Given the description of an element on the screen output the (x, y) to click on. 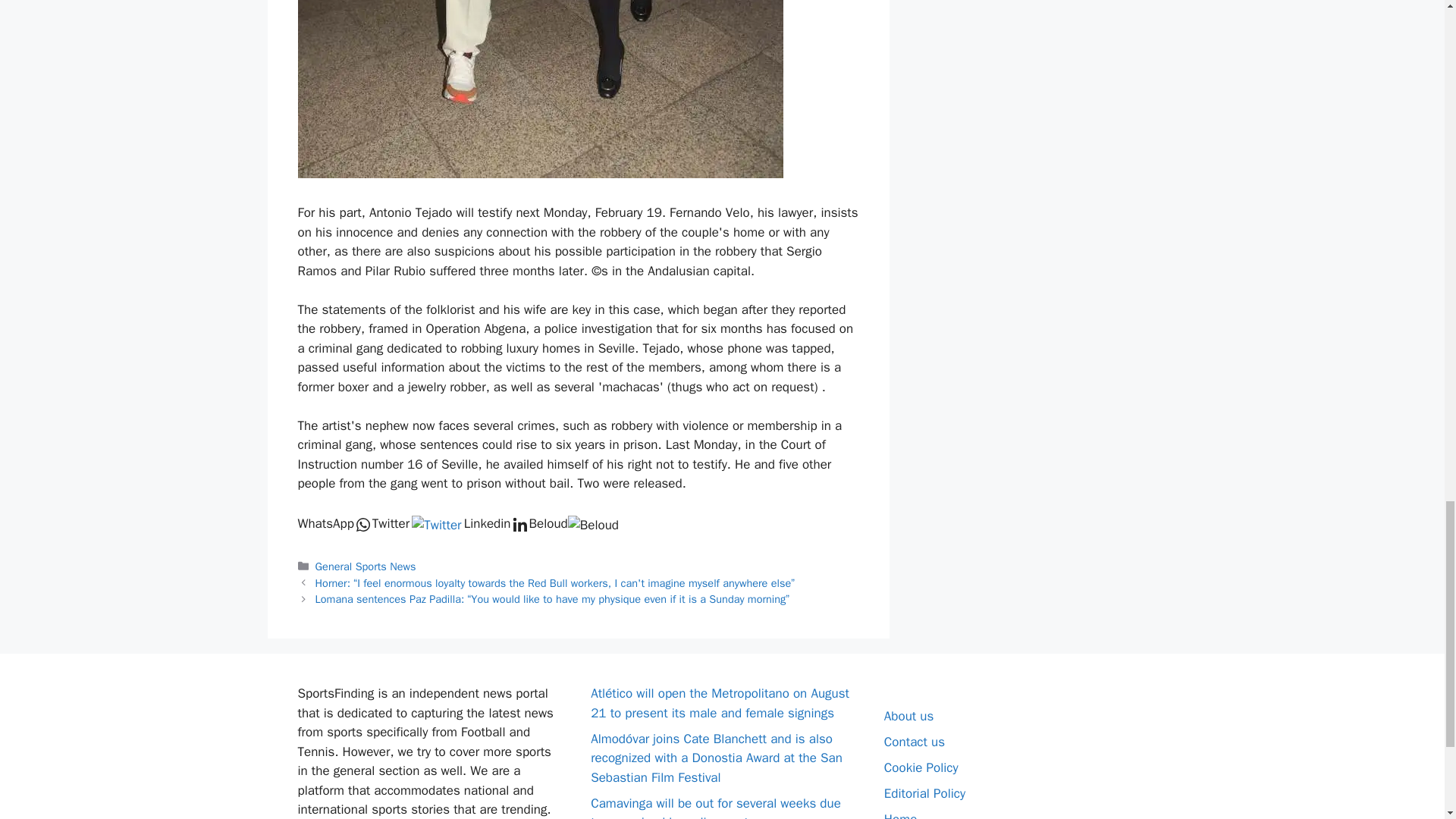
General Sports News (365, 566)
Contact us (913, 741)
Cookie Policy (920, 767)
Editorial Policy (924, 793)
About us (908, 715)
